Given the description of an element on the screen output the (x, y) to click on. 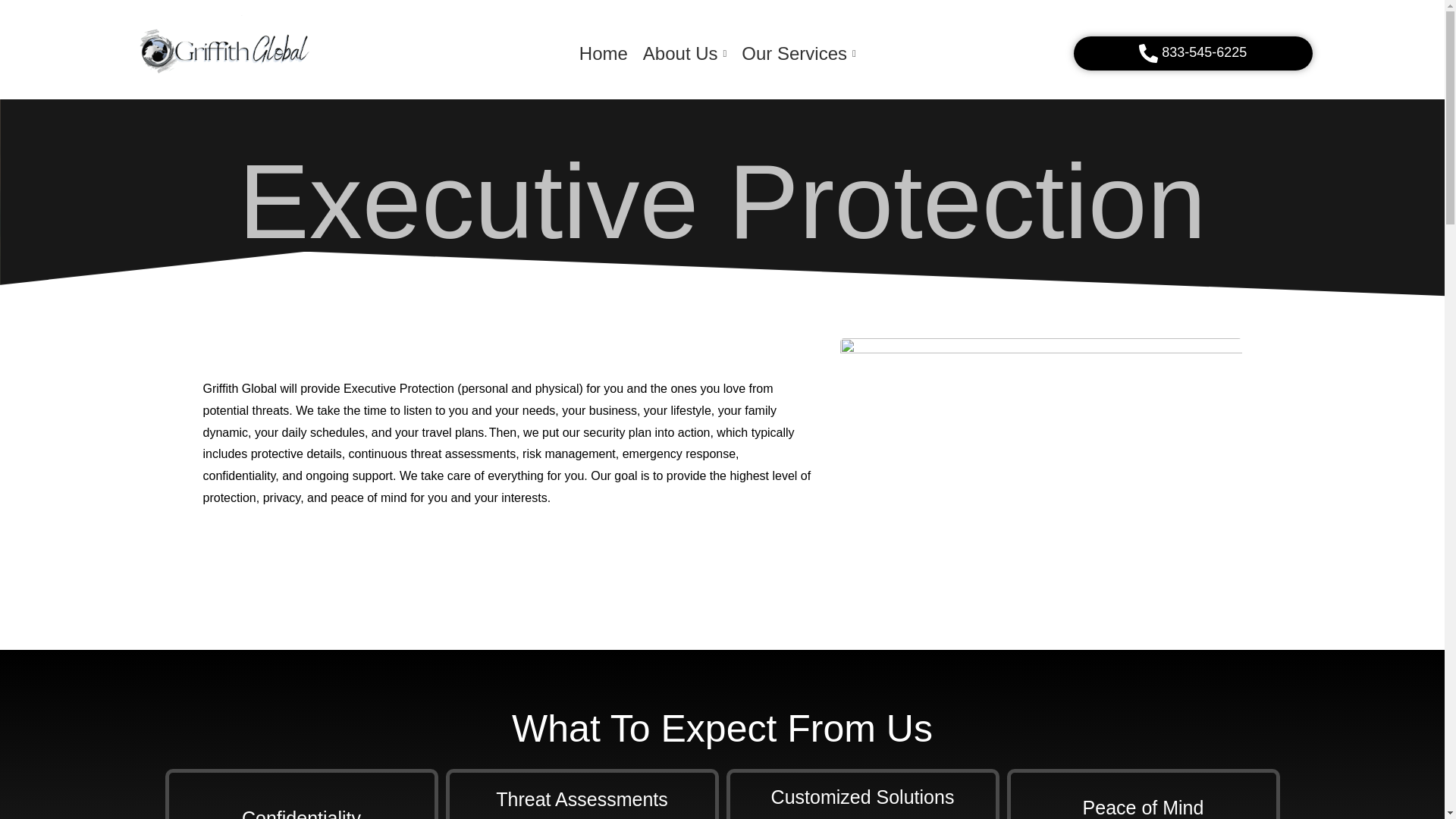
Home (603, 53)
About Us (684, 53)
833-545-6225 (1193, 53)
Our Services (798, 53)
